Given the description of an element on the screen output the (x, y) to click on. 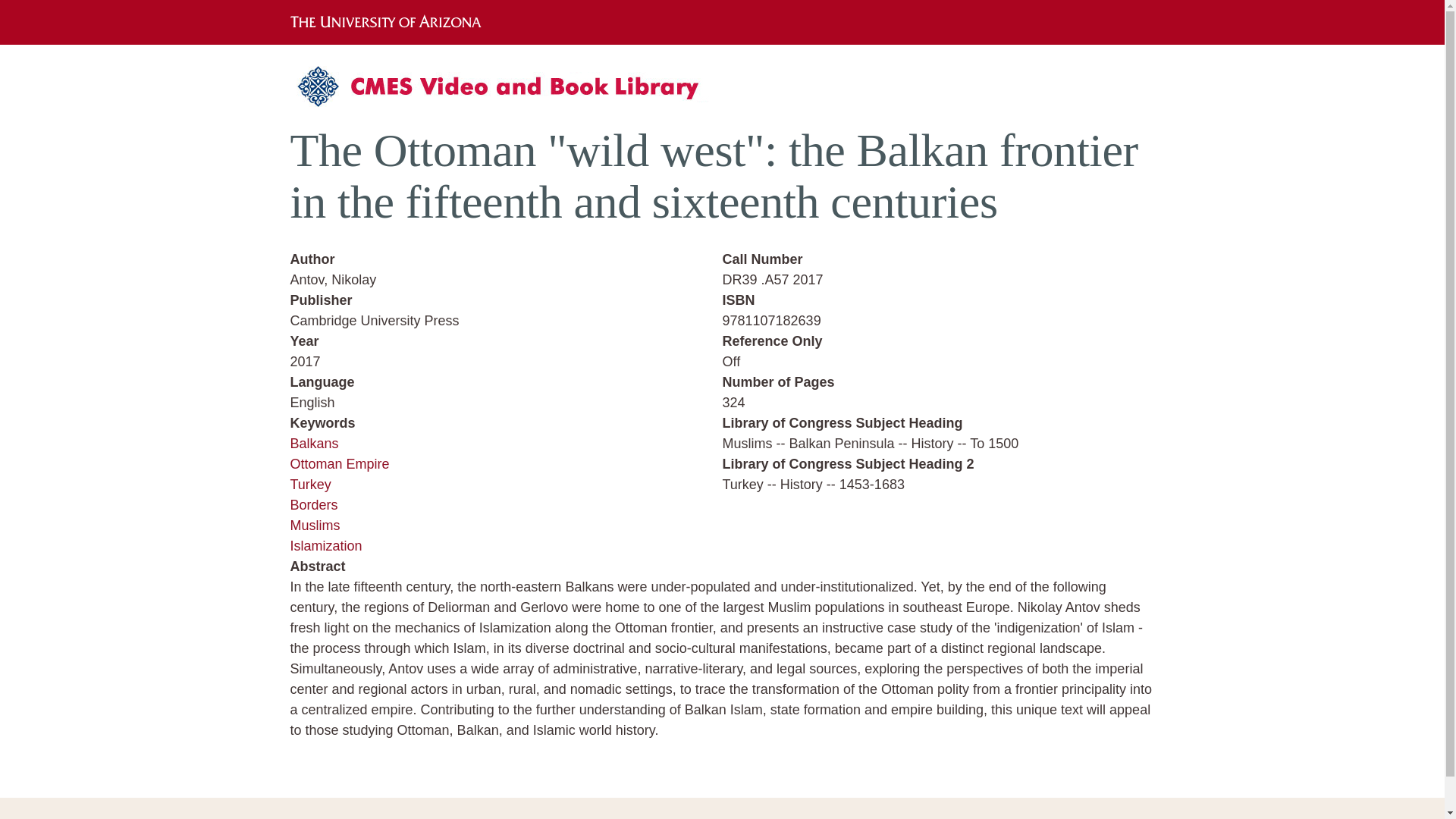
Home (505, 91)
Borders (313, 504)
Ottoman Empire (338, 463)
Muslims (314, 525)
Islamization (325, 545)
Turkey (309, 484)
Balkans (313, 443)
